Given the description of an element on the screen output the (x, y) to click on. 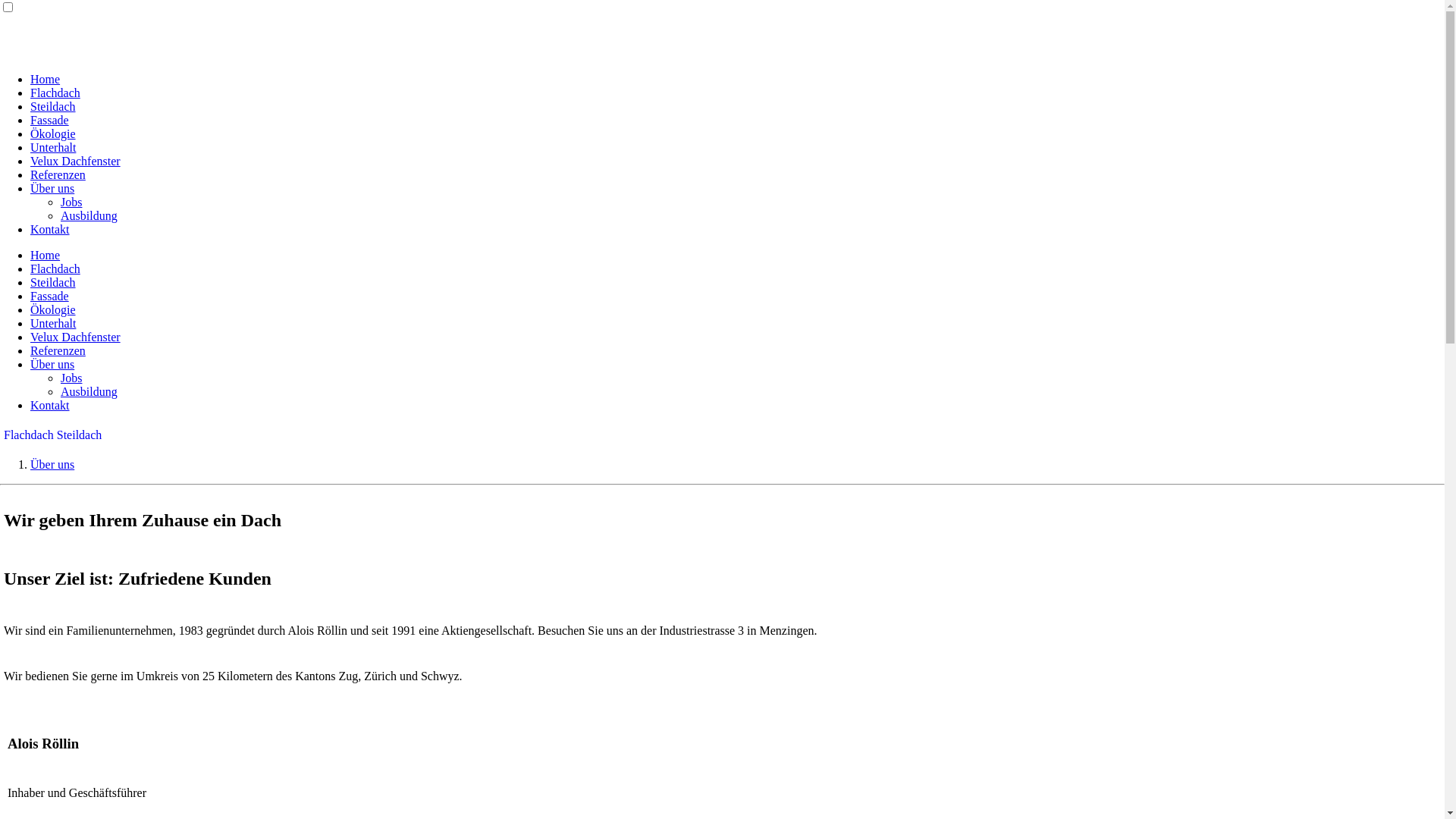
Kontakt Element type: text (49, 228)
Velux Dachfenster Element type: text (75, 160)
Steildach Element type: text (52, 106)
Jobs Element type: text (70, 377)
Flachdach Steildach Element type: text (52, 434)
Jobs Element type: text (70, 201)
Velux Dachfenster Element type: text (75, 336)
Referenzen Element type: text (57, 350)
Steildach Element type: text (52, 282)
Flachdach Element type: text (55, 268)
Home Element type: text (44, 254)
Fassade Element type: text (49, 295)
Flachdach Element type: text (55, 92)
Fassade Element type: text (49, 119)
Unterhalt Element type: text (52, 147)
Home Element type: text (44, 78)
Ausbildung Element type: text (88, 391)
Referenzen Element type: text (57, 174)
Ausbildung Element type: text (88, 215)
Kontakt Element type: text (49, 404)
Unterhalt Element type: text (52, 322)
